Given the description of an element on the screen output the (x, y) to click on. 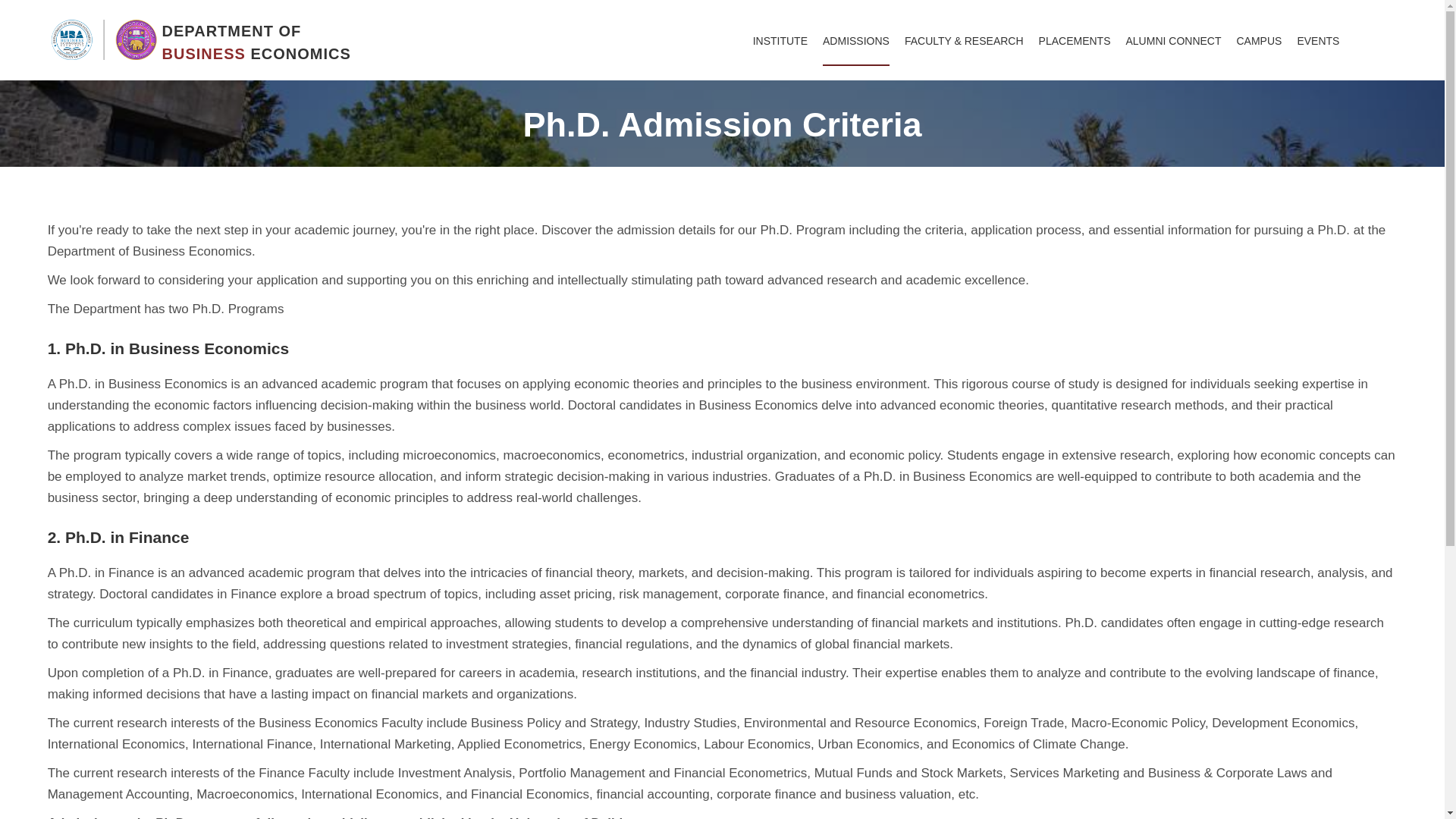
ADMISSIONS (855, 40)
ALUMNI CONNECT (1173, 40)
EVENTS (1318, 40)
DEPARTMENT OF BUSINESS ECONOMICS (207, 26)
INSTITUTE (780, 40)
CAMPUS (1258, 40)
PLACEMENTS (1074, 40)
DEPARTMENT OF BUSINESS ECONOMICS (207, 26)
